Given the description of an element on the screen output the (x, y) to click on. 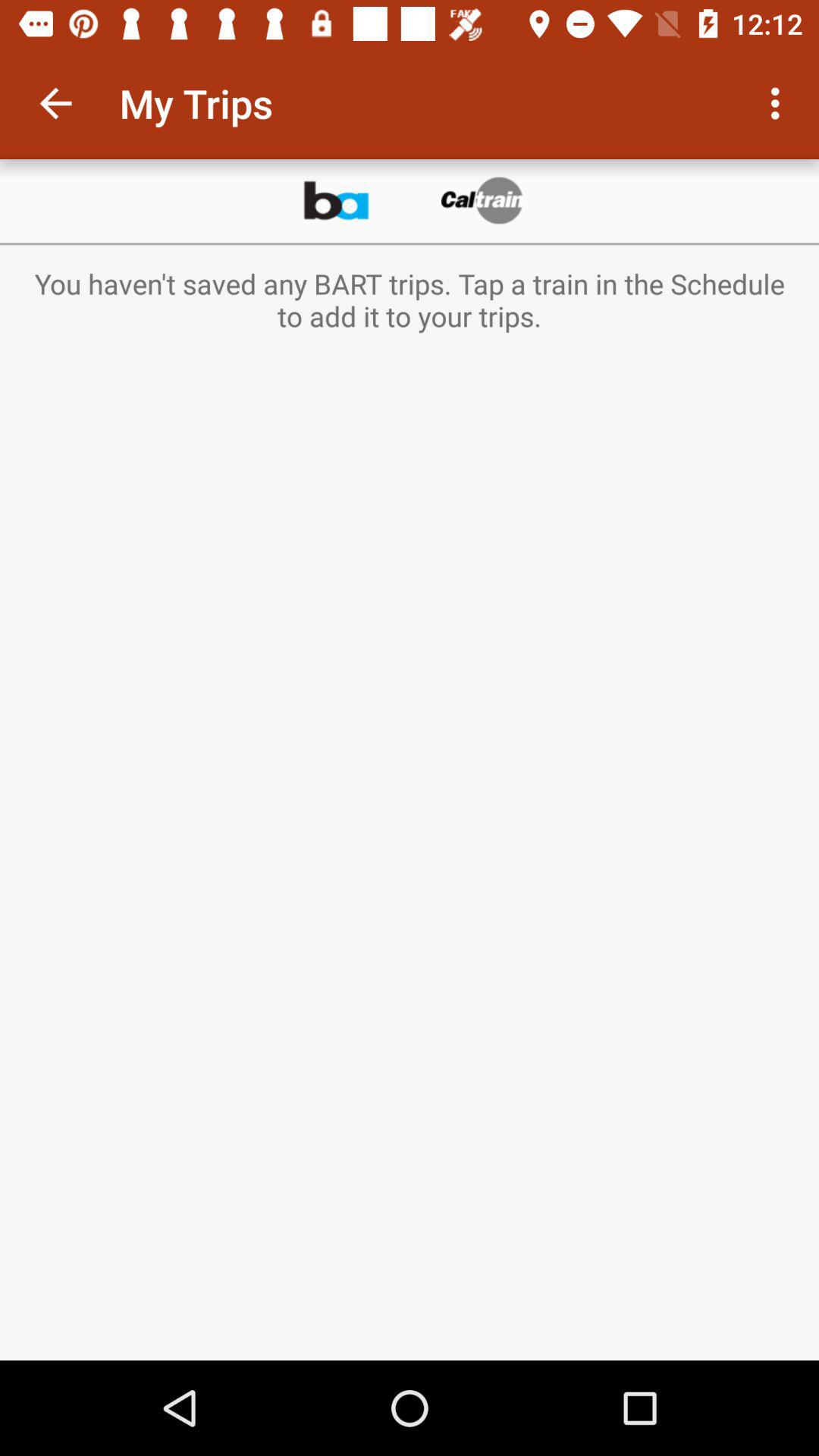
press icon next to my trips item (55, 103)
